Given the description of an element on the screen output the (x, y) to click on. 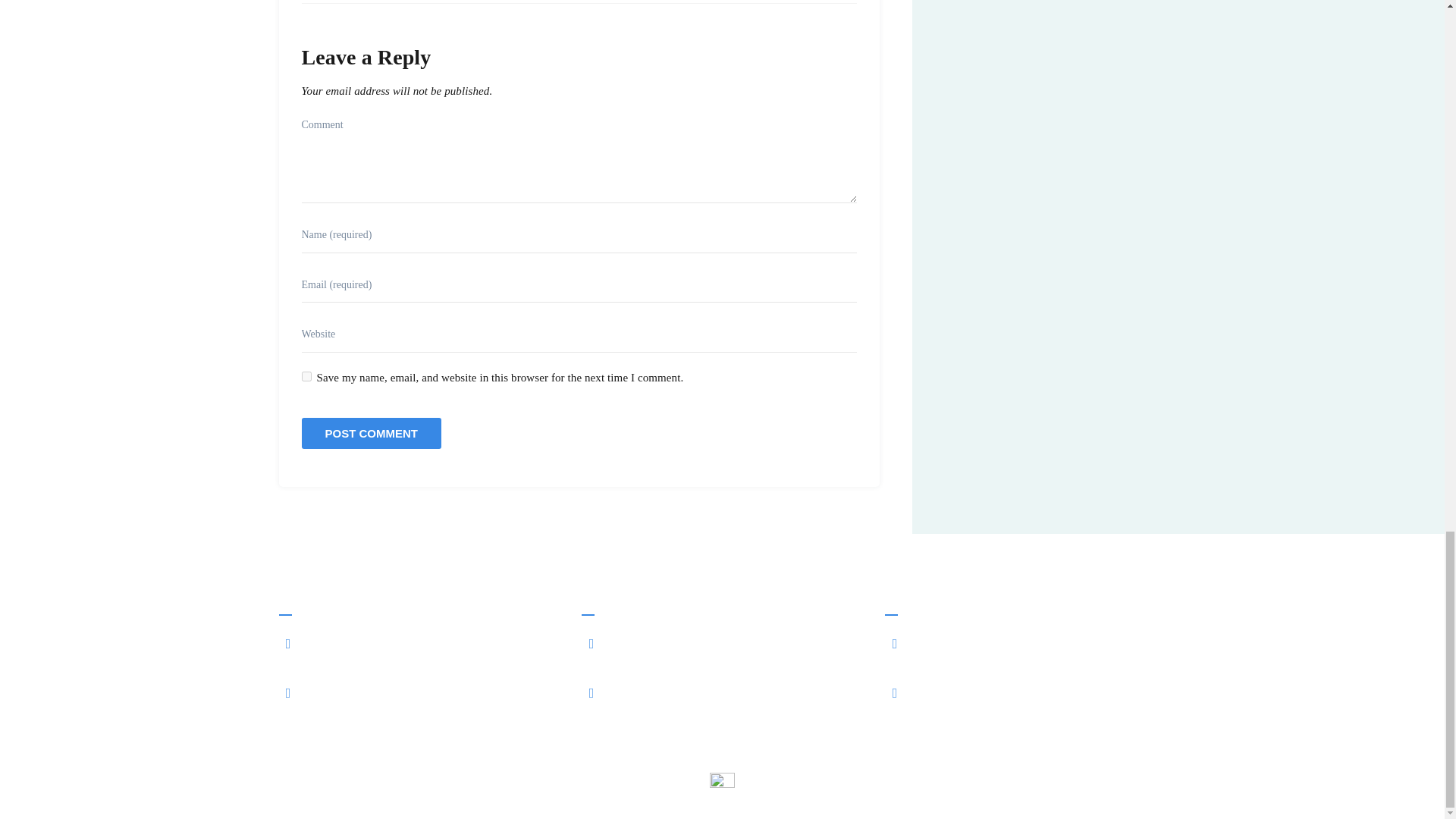
Post Comment (371, 432)
yes (306, 376)
Post Comment (371, 432)
